Given the description of an element on the screen output the (x, y) to click on. 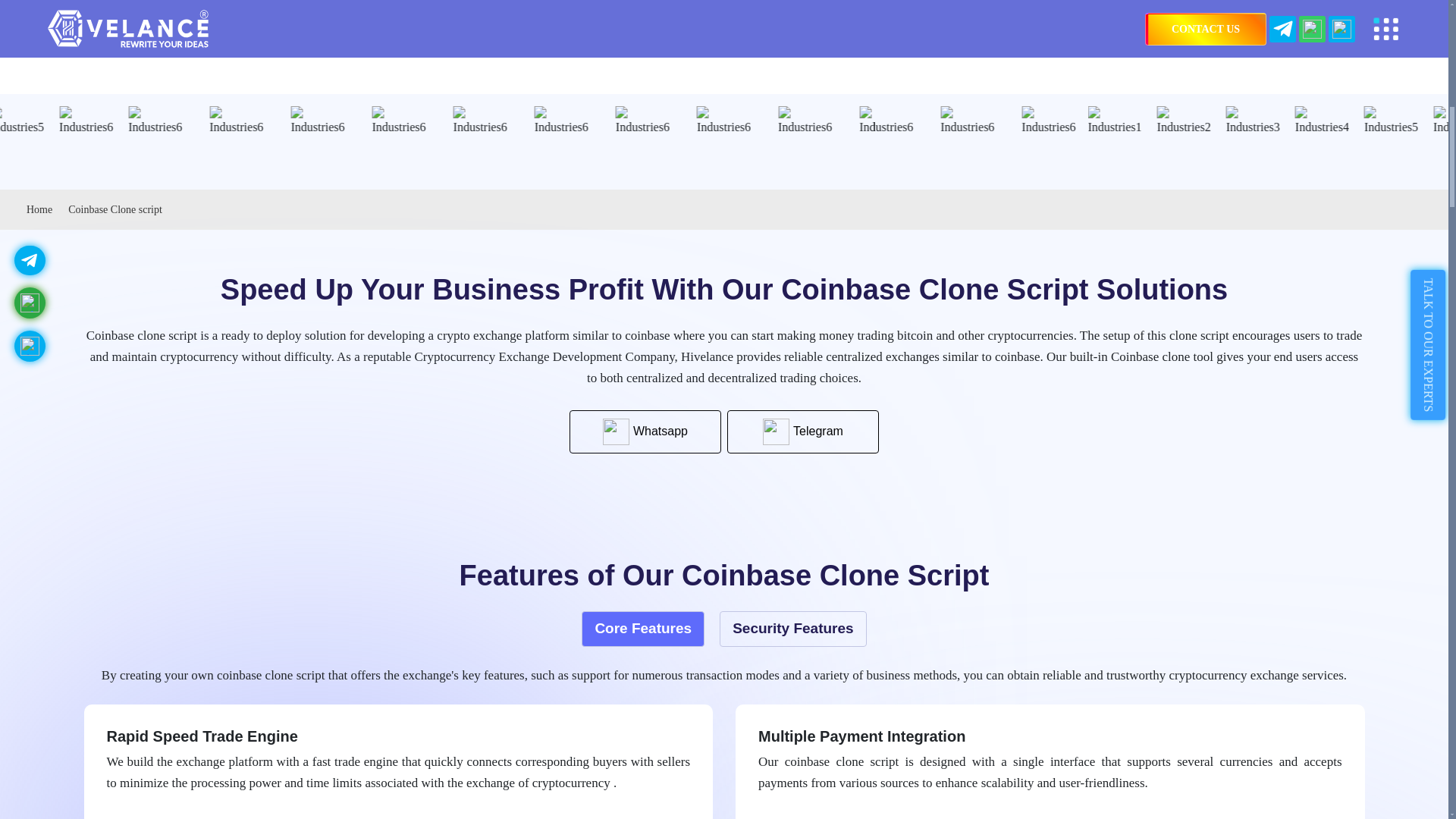
Industries6 (564, 121)
Industries3 (61, 121)
Industries5 (195, 121)
Industries6 (408, 121)
Industries6 (485, 121)
Industries6 (329, 121)
Industries4 (128, 121)
Industries6 (261, 121)
